Given the description of an element on the screen output the (x, y) to click on. 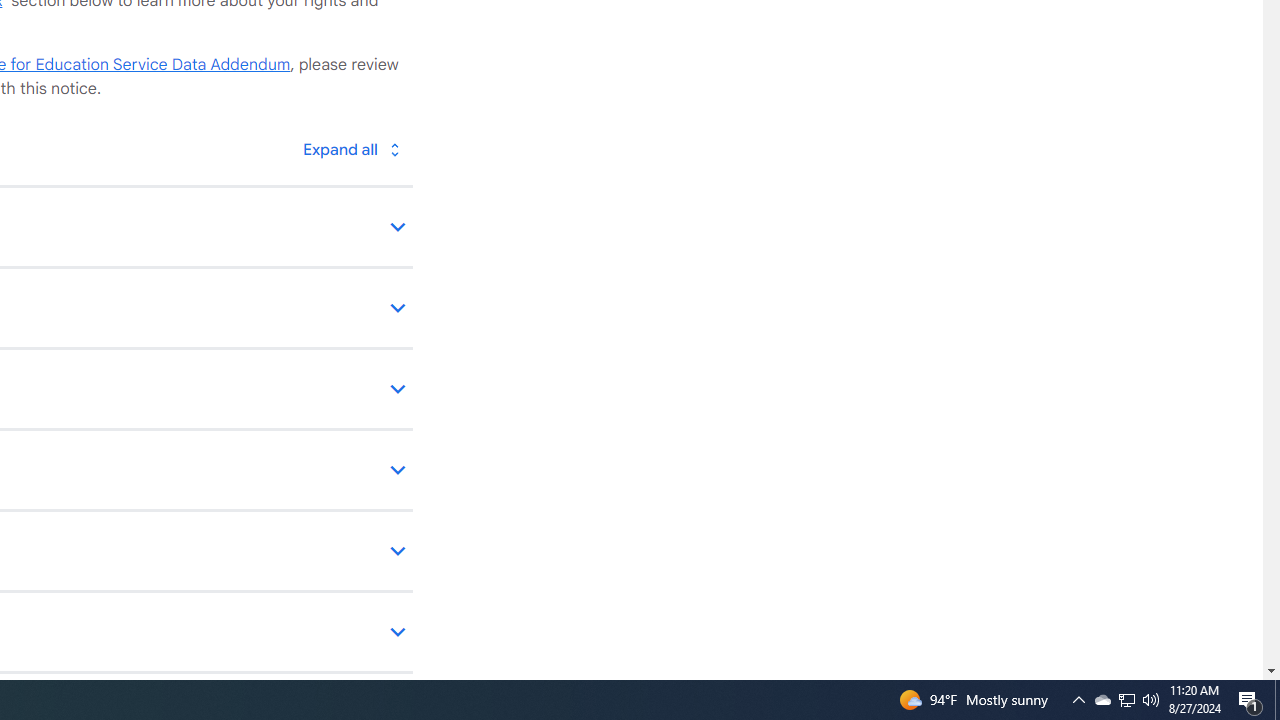
Toggle all (351, 148)
